Given the description of an element on the screen output the (x, y) to click on. 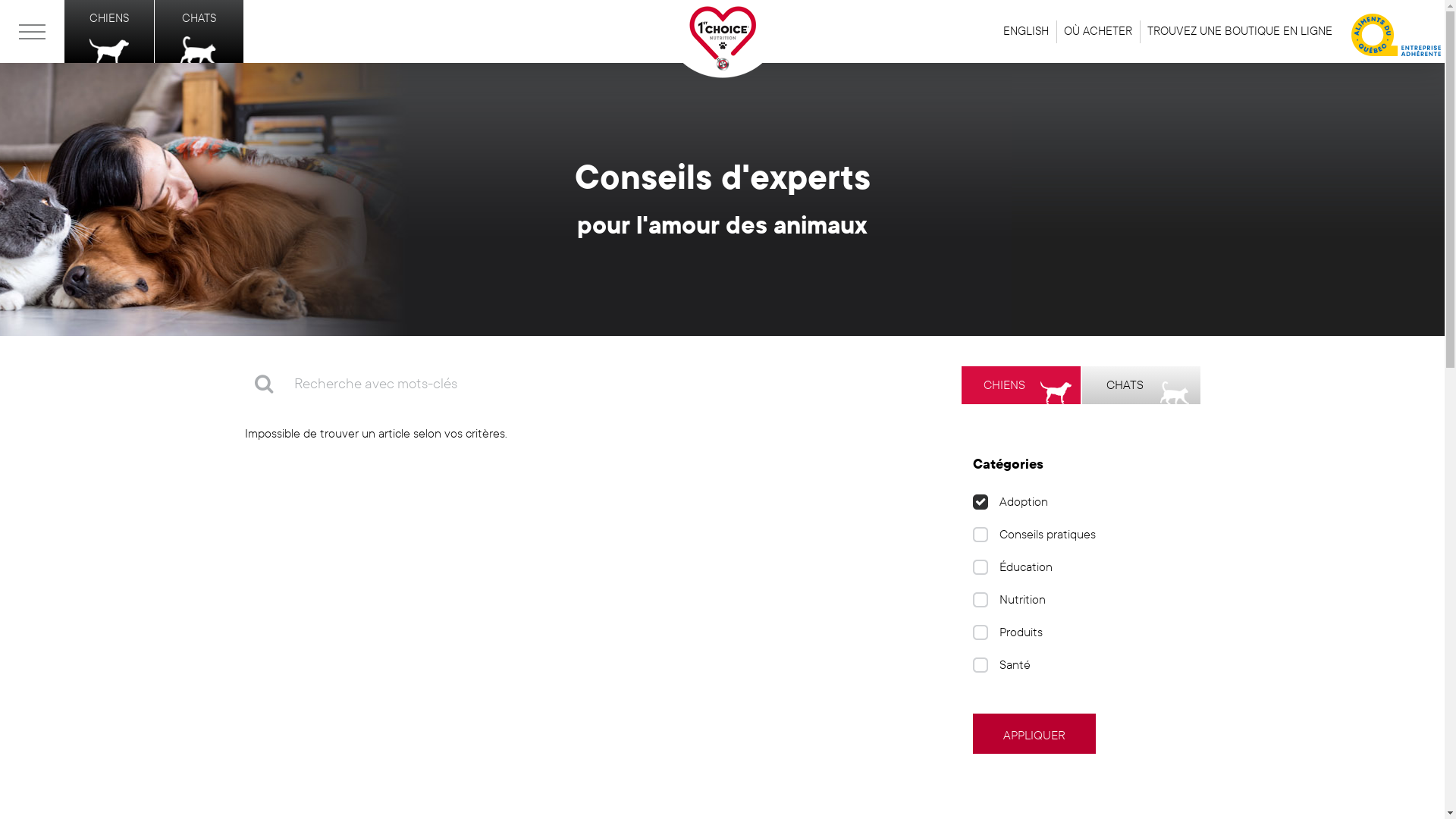
TROUVEZ UNE BOUTIQUE EN LIGNE Element type: text (1239, 31)
APPLIQUER Element type: text (1033, 733)
ENGLISH Element type: text (1025, 31)
CHATS Element type: text (199, 31)
CHIENS Element type: text (108, 31)
